Given the description of an element on the screen output the (x, y) to click on. 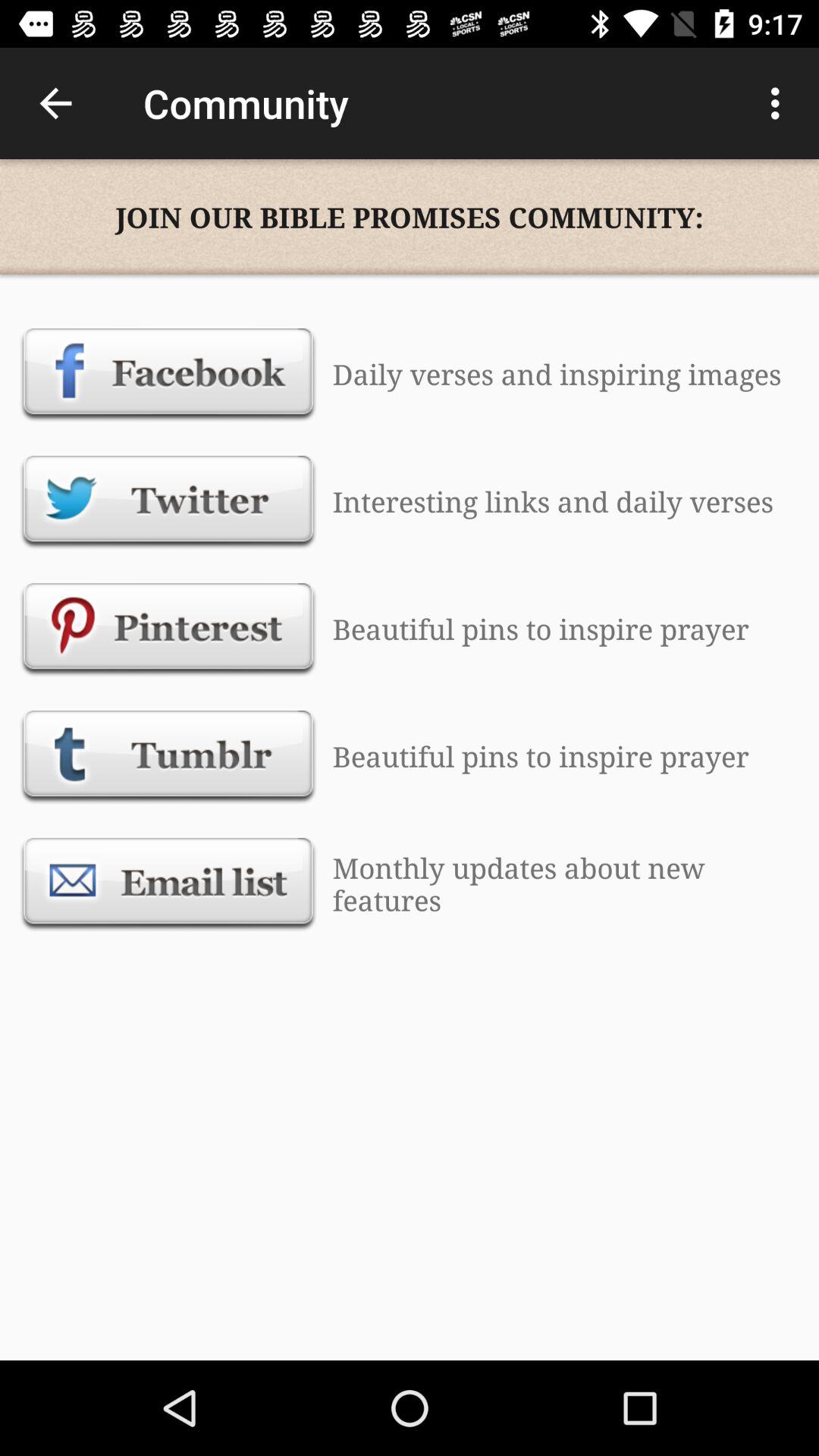
choose item to the left of community item (55, 103)
